Given the description of an element on the screen output the (x, y) to click on. 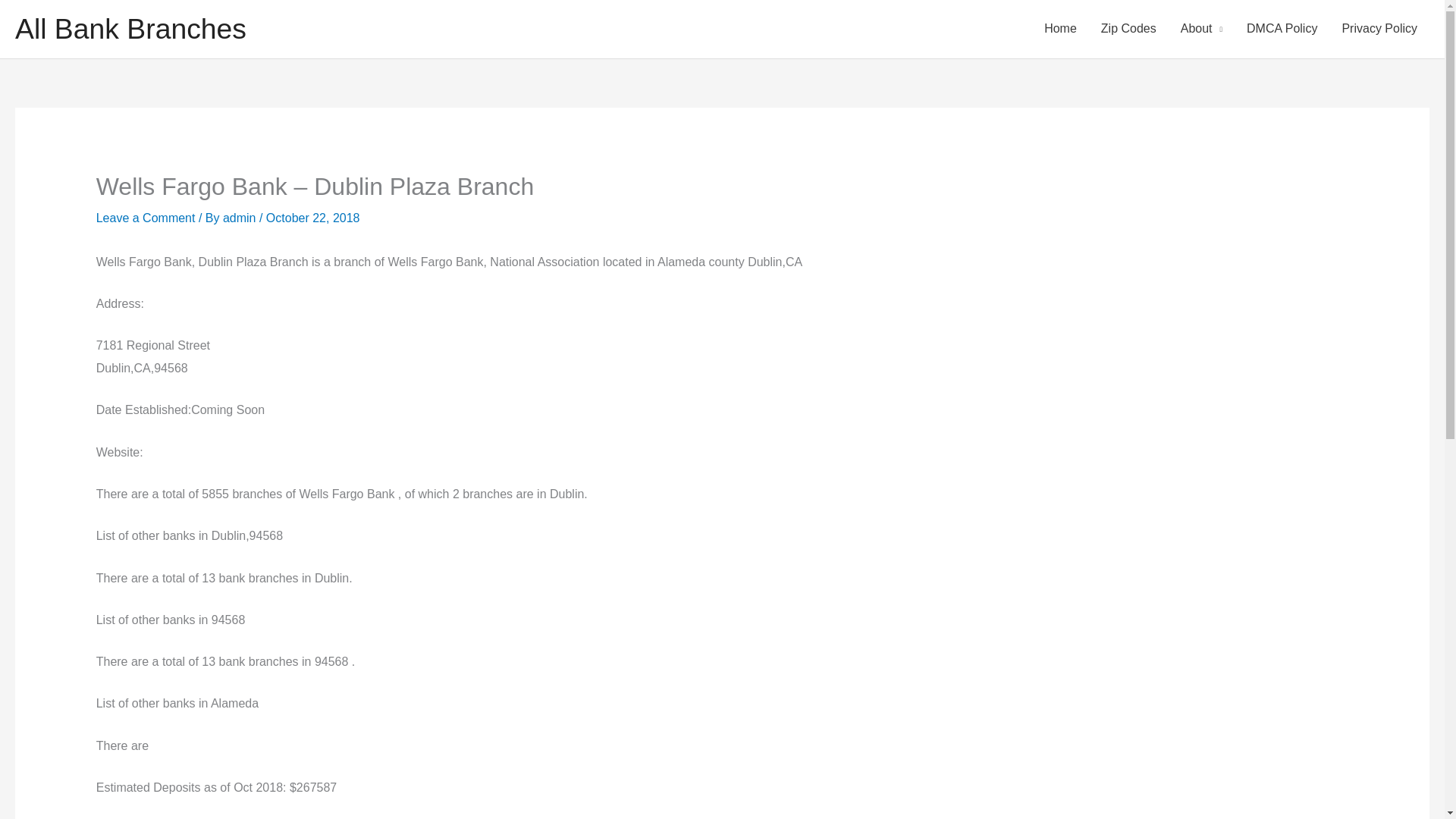
View all posts by admin (240, 217)
All Bank Branches (130, 29)
Privacy Policy (1379, 29)
Zip Codes (1129, 29)
Home (1060, 29)
DMCA Policy (1281, 29)
Leave a Comment (145, 217)
admin (240, 217)
About (1201, 29)
